Given the description of an element on the screen output the (x, y) to click on. 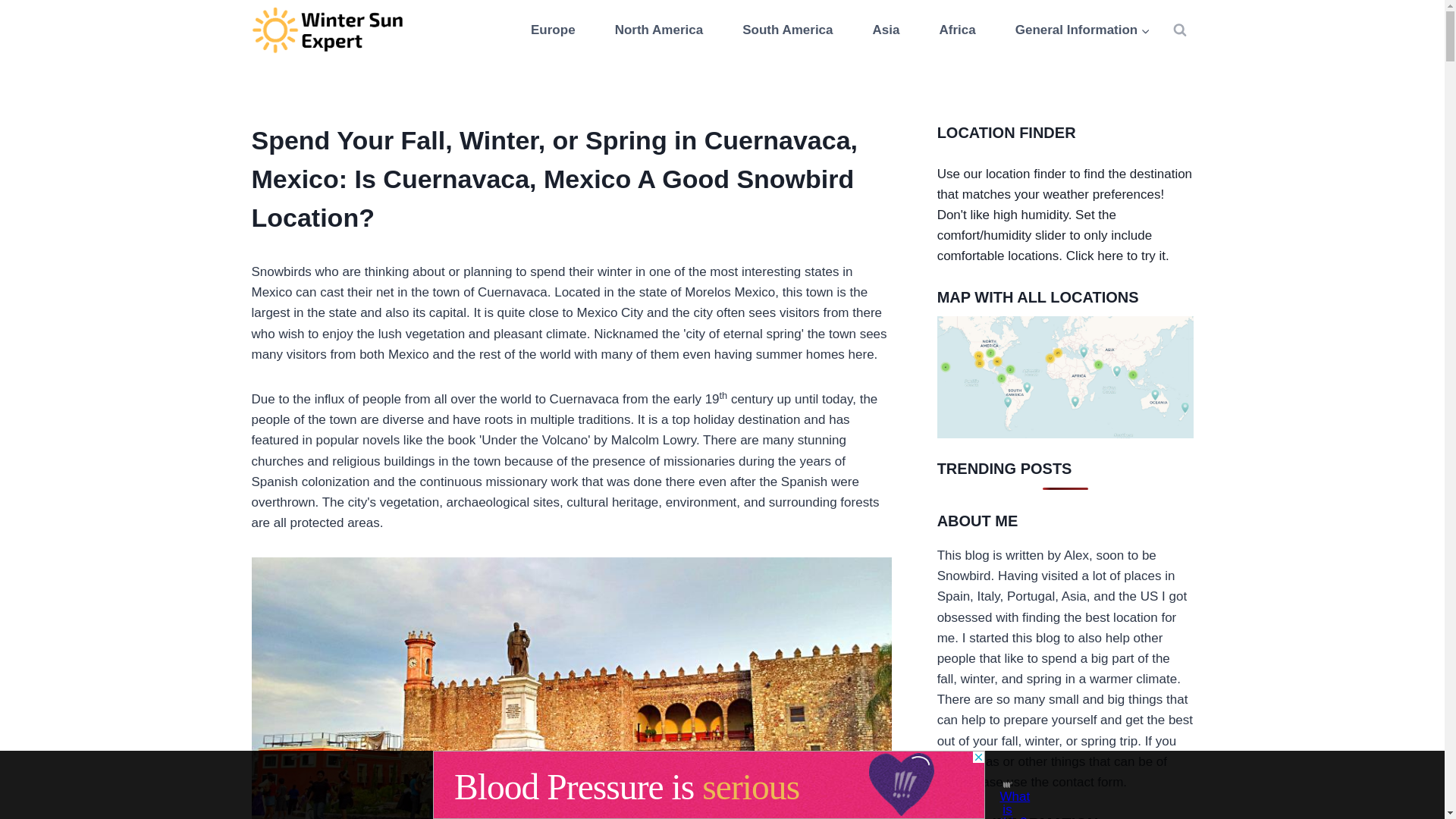
General Information (1082, 30)
South America (788, 30)
Asia (885, 30)
North America (658, 30)
Map with all locations (1065, 377)
Africa (957, 30)
Europe (552, 30)
3rd party ad content (708, 785)
